Given the description of an element on the screen output the (x, y) to click on. 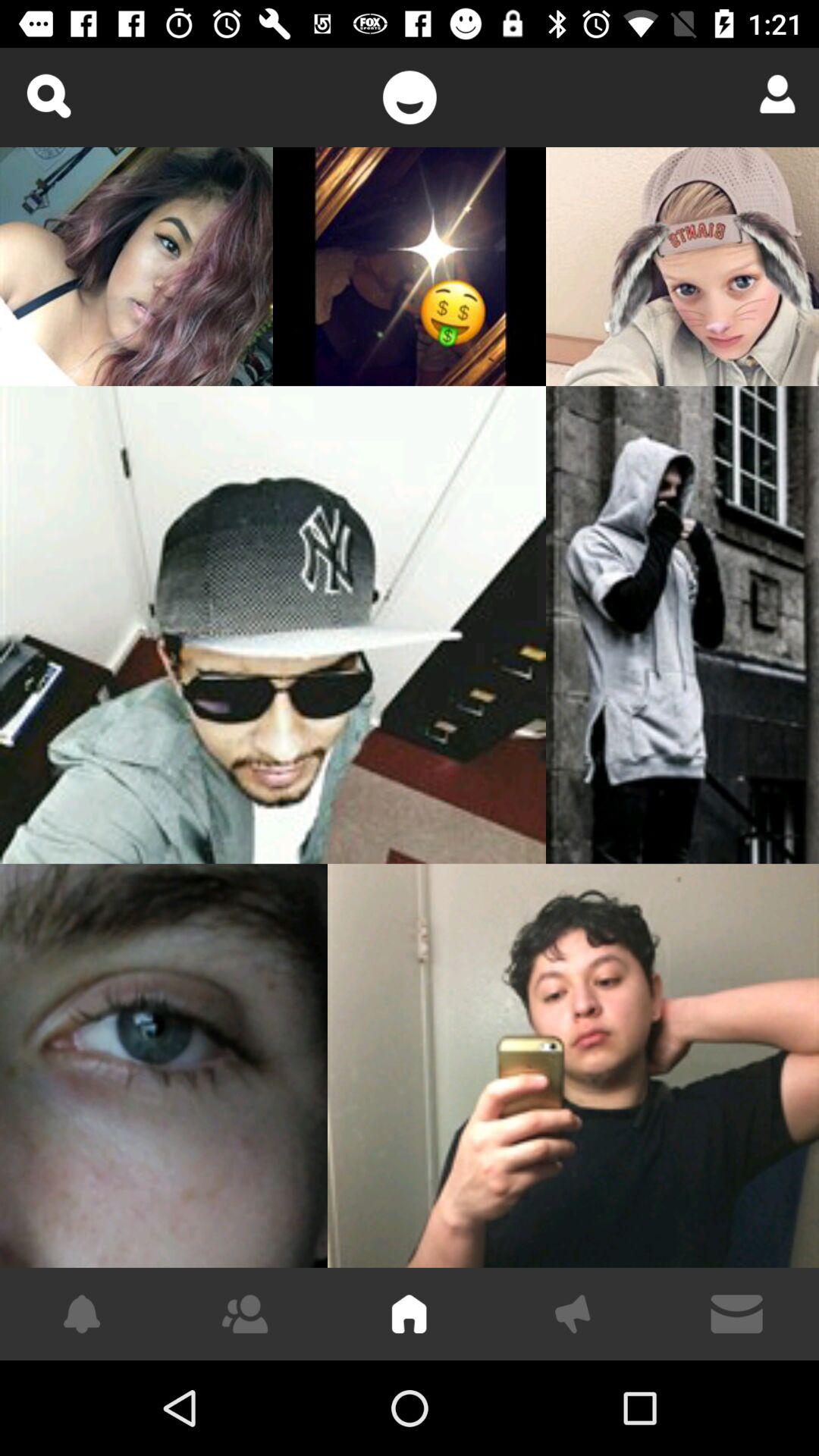
search button (48, 95)
